Given the description of an element on the screen output the (x, y) to click on. 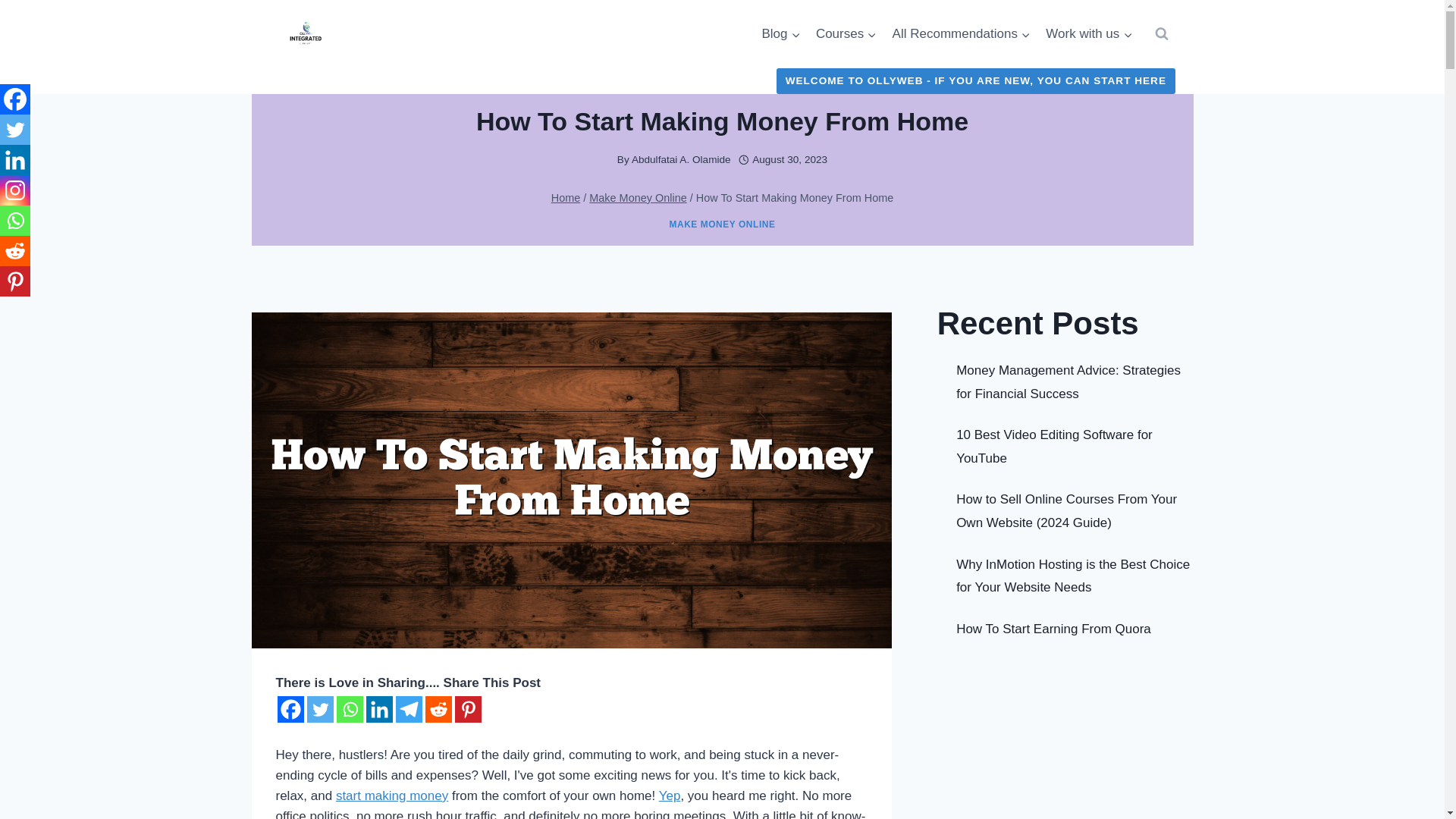
All Recommendations (960, 33)
Whatsapp (349, 709)
Reddit (438, 709)
Blog (781, 33)
Pinterest (467, 709)
start making money (392, 795)
Make Money Online (637, 197)
Yep (670, 795)
Yep (670, 795)
Facebook (291, 709)
MAKE MONEY ONLINE (721, 224)
Work with us (1089, 33)
Courses (846, 33)
WELCOME TO OLLYWEB - IF YOU ARE NEW, YOU CAN START HERE (975, 80)
